Given the description of an element on the screen output the (x, y) to click on. 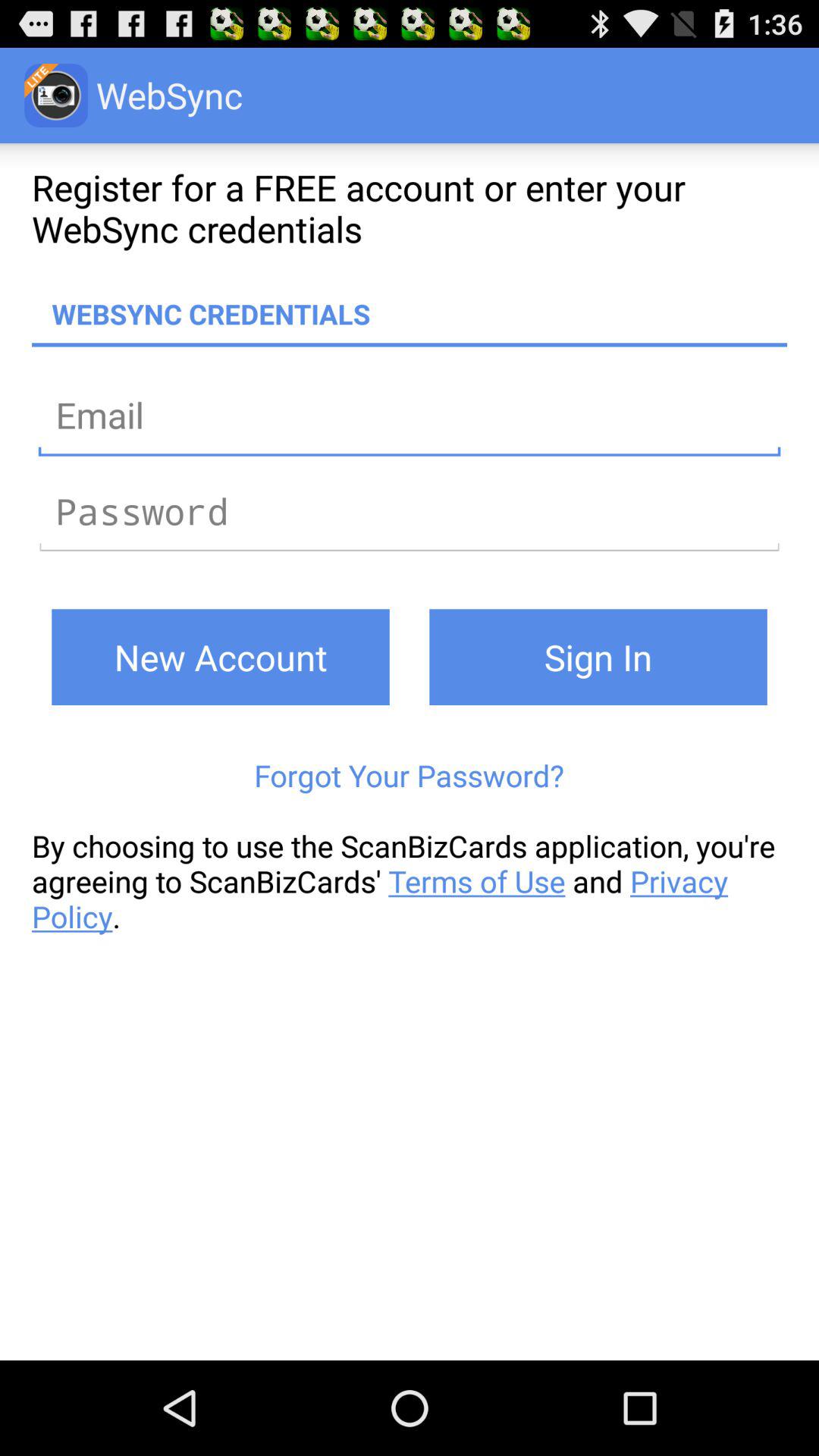
select button on the left (220, 657)
